Given the description of an element on the screen output the (x, y) to click on. 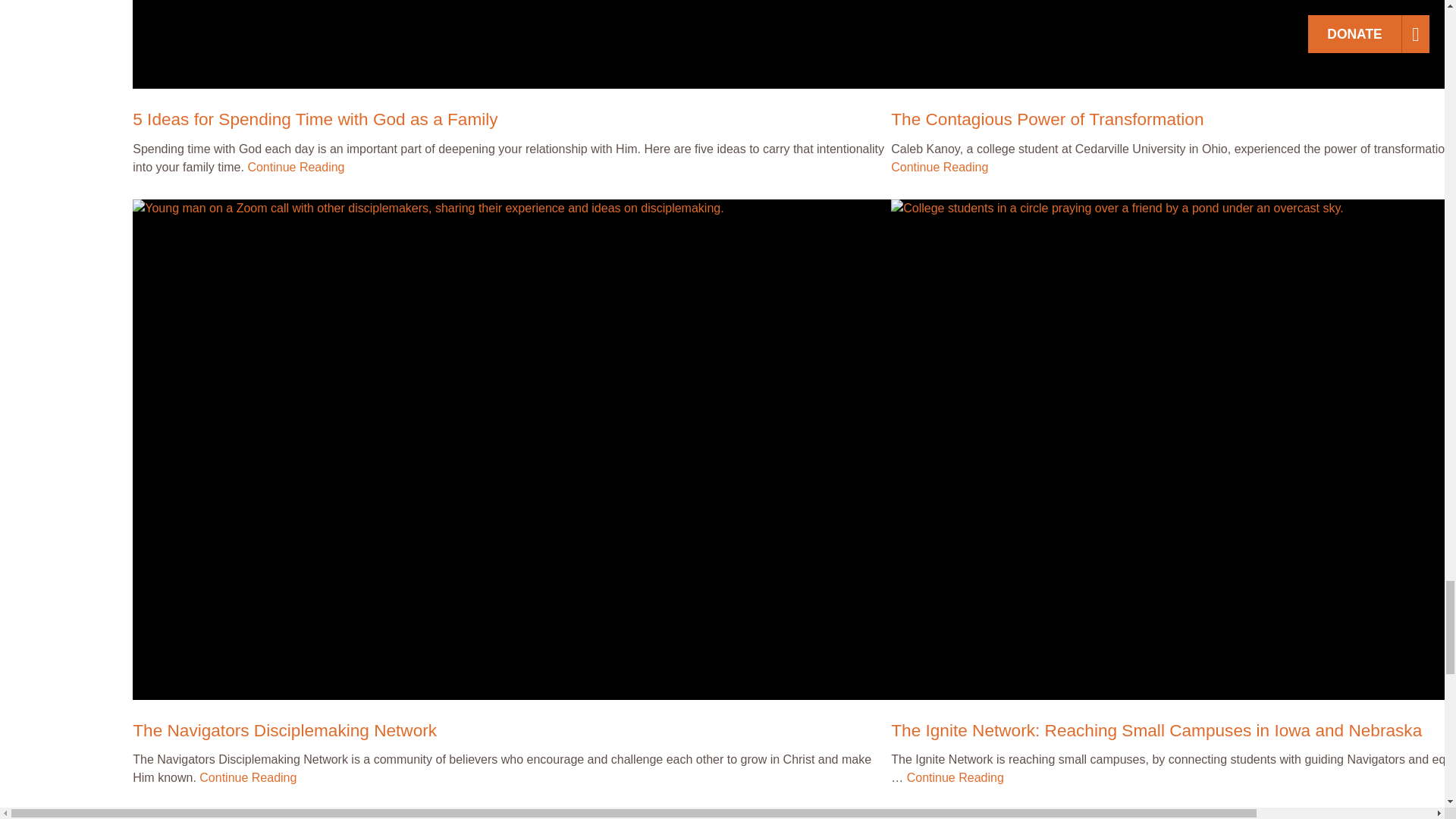
5 Ideas for Spending Time with God as a Family (511, 44)
